Given the description of an element on the screen output the (x, y) to click on. 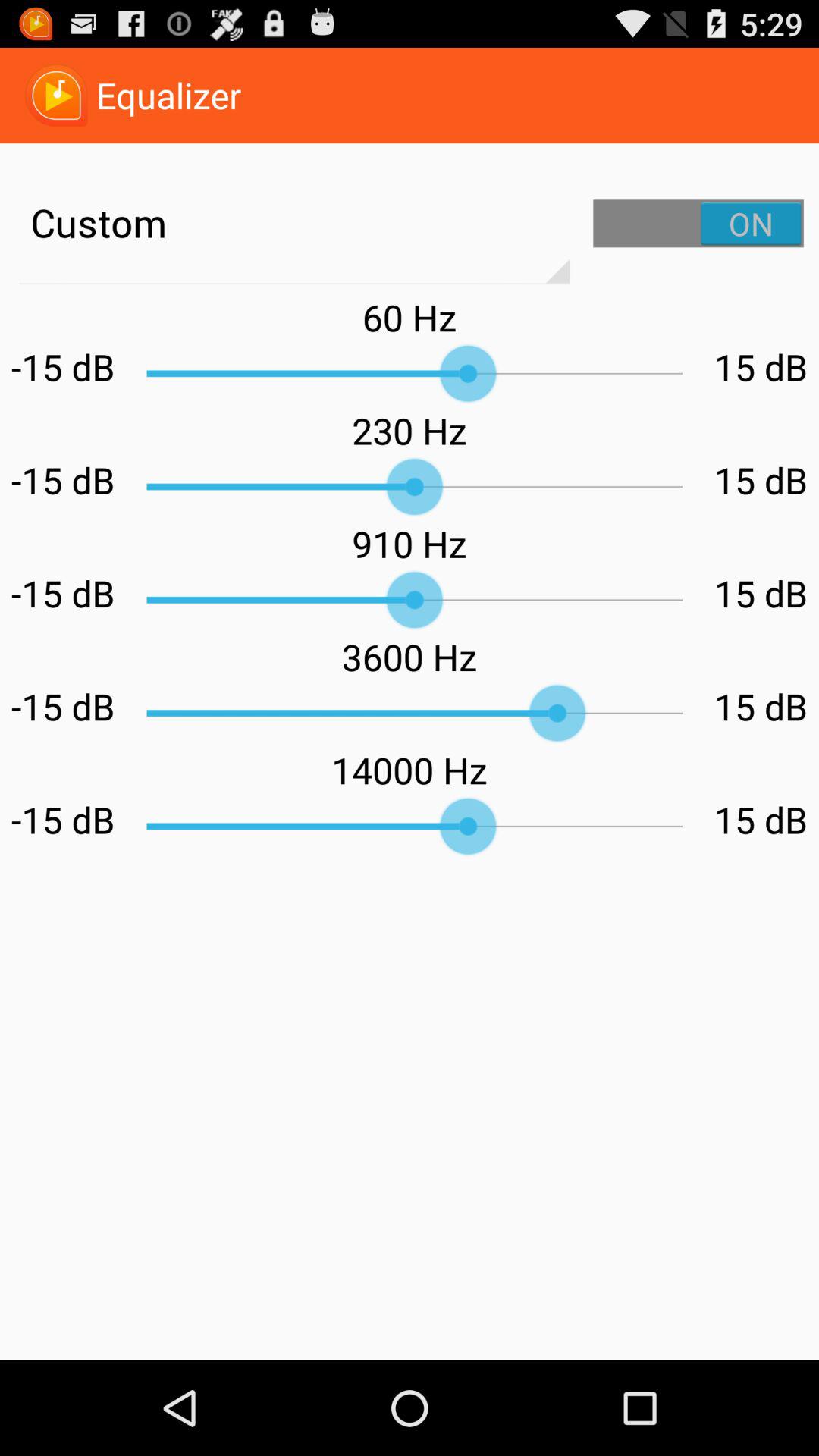
click on switch button (697, 223)
go to icon beside equalizer (55, 95)
